Given the description of an element on the screen output the (x, y) to click on. 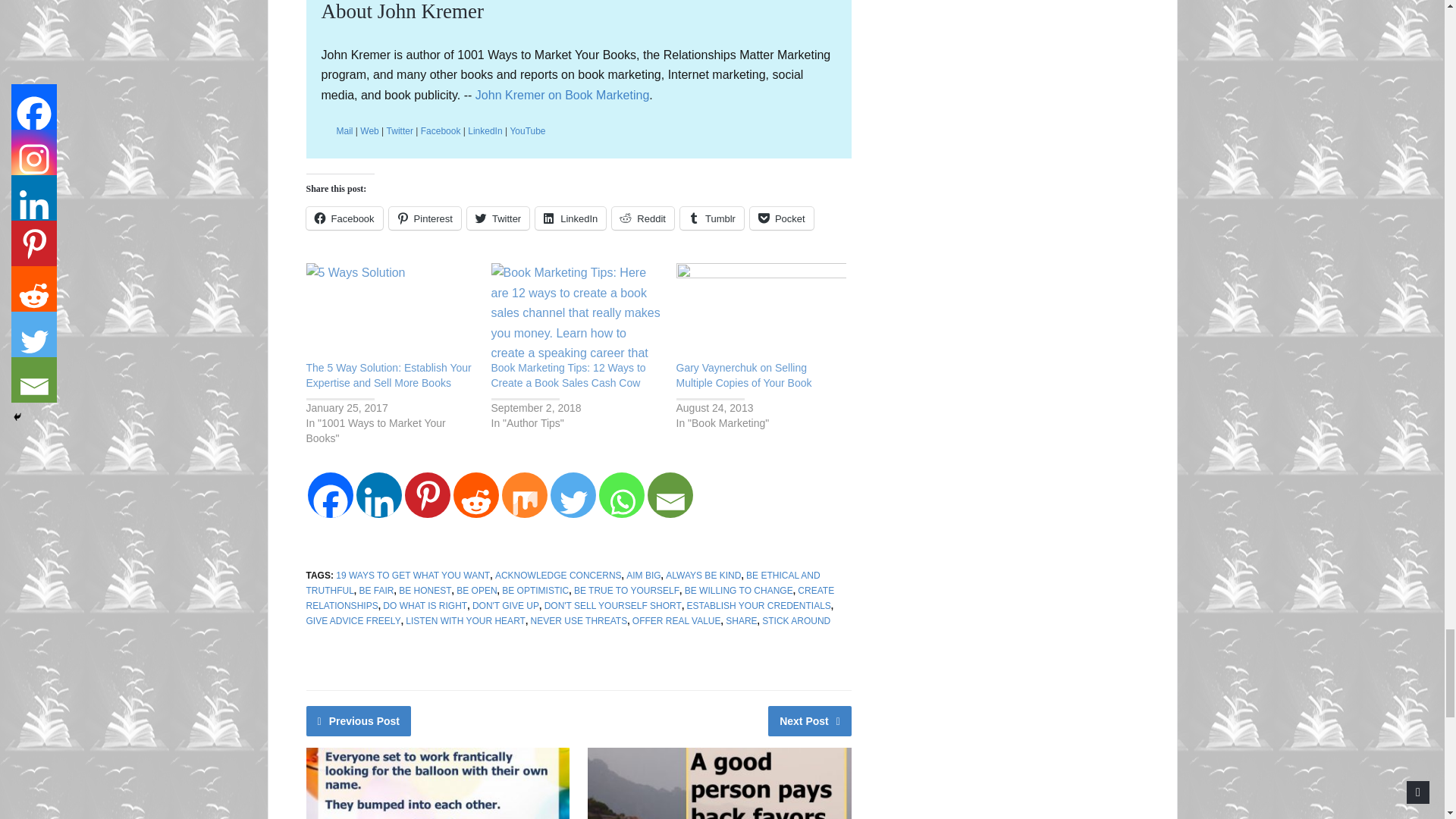
Send John Kremer Mail (344, 131)
John Kremer On Facebook (440, 131)
Click to share on Pocket (781, 218)
John Kremer On LinkedIn (484, 131)
Click to share on LinkedIn (570, 218)
Book Marketing Tips: 12 Ways to Create a Book Sales Cash Cow (576, 311)
John Kremer On YouTube (526, 131)
Click to share on Facebook (343, 218)
John Kremer On Twitter (400, 131)
Click to share on Pinterest (424, 218)
Click to share on Reddit (642, 218)
Click to share on Twitter (498, 218)
John Kremer On The Web (368, 131)
Click to share on Tumblr (711, 218)
